Given the description of an element on the screen output the (x, y) to click on. 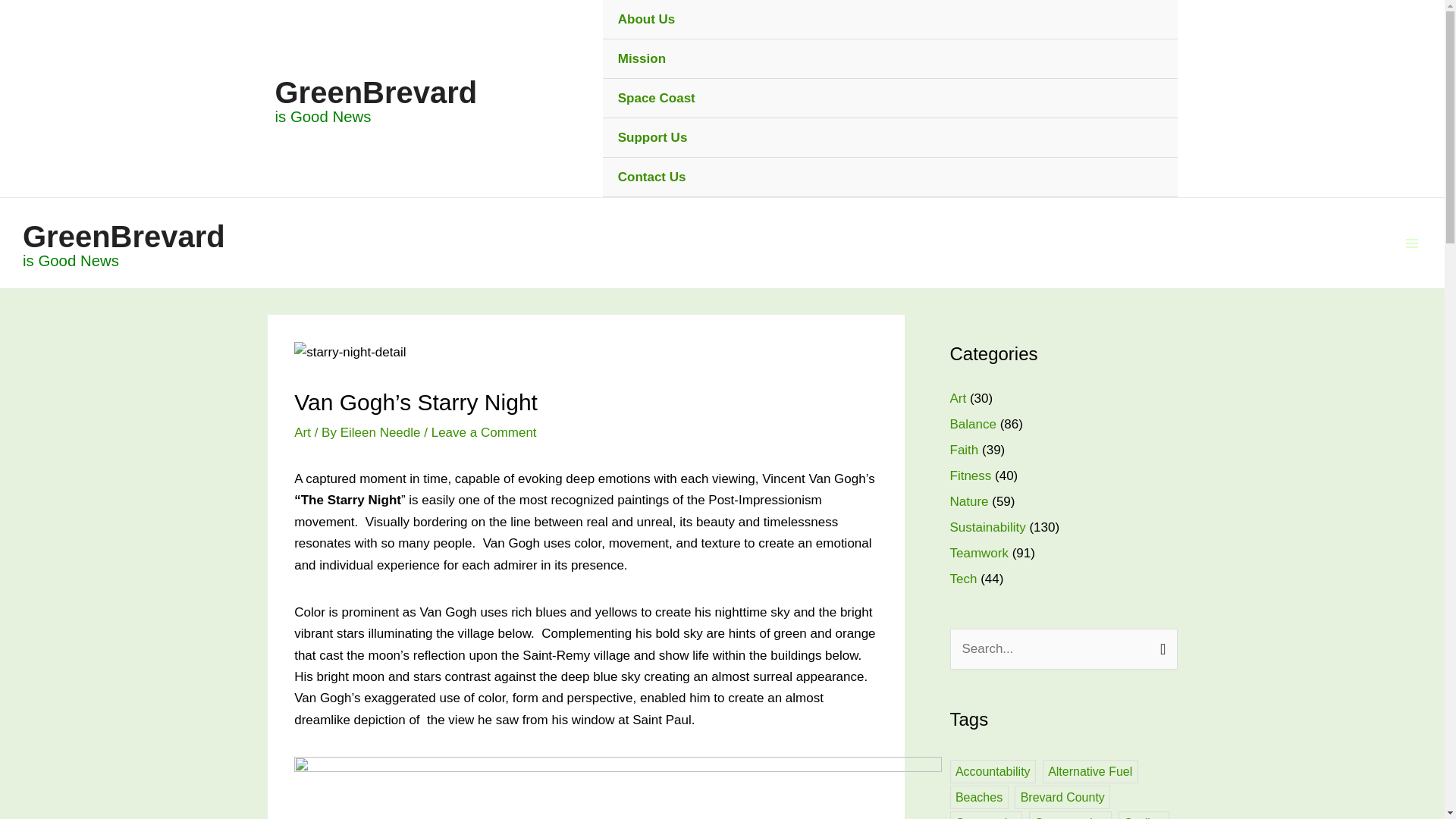
About Us (889, 19)
Beaches (978, 797)
Fitness (970, 475)
Contact Us (889, 177)
Alternative Fuel (1090, 771)
GreenBrevard (376, 92)
Conservation (1070, 815)
Art (957, 398)
Eileen Needle (382, 432)
View all posts by Eileen Needle (382, 432)
Teamwork (978, 553)
Art (302, 432)
Accountability (992, 771)
Main Menu (1411, 243)
Brevard County (1061, 797)
